Given the description of an element on the screen output the (x, y) to click on. 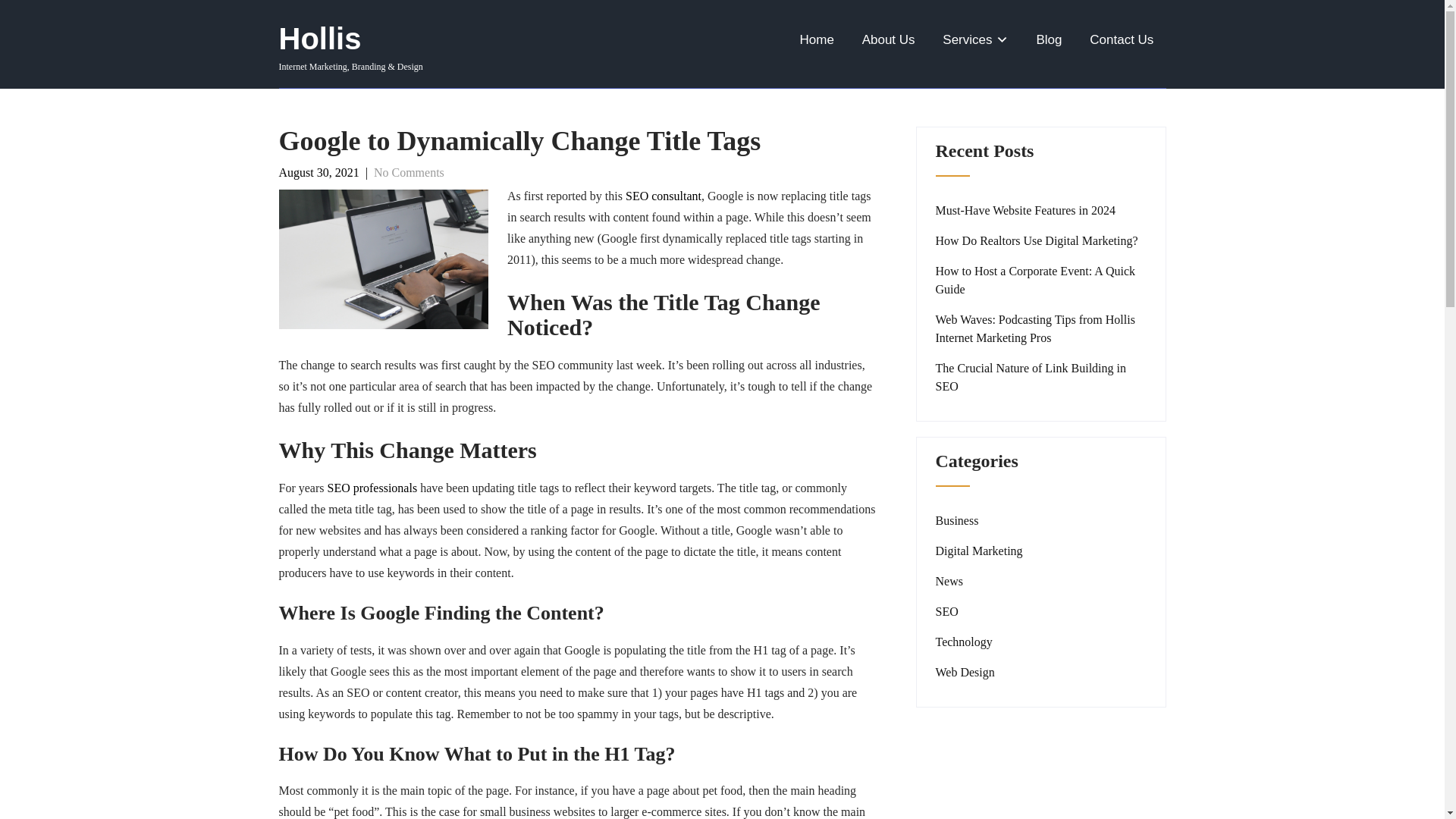
How to Host a Corporate Event: A Quick Guide (1041, 280)
SEO consultant (663, 195)
Blog (1048, 39)
SEO professionals (371, 487)
The Crucial Nature of Link Building in SEO (1041, 377)
About Us (888, 39)
Must-Have Website Features in 2024 (1025, 210)
SEO (947, 610)
News (949, 580)
How Do Realtors Use Digital Marketing? (1037, 240)
